Given the description of an element on the screen output the (x, y) to click on. 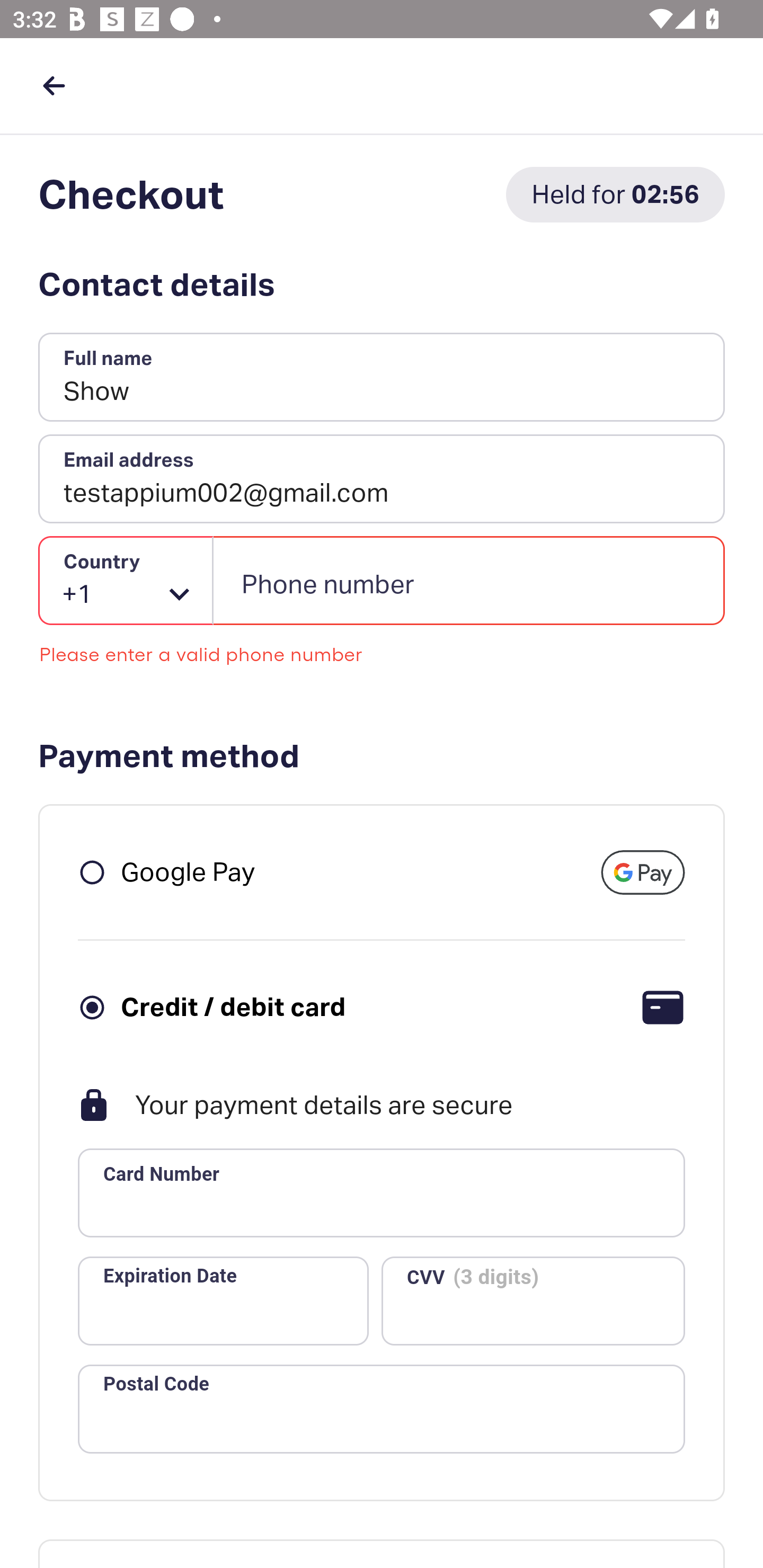
back button (53, 85)
Show (381, 377)
testappium002@gmail.com (381, 478)
  +1 (126, 580)
Google Pay (187, 871)
Credit / debit card (233, 1006)
Card Number (381, 1192)
Expiration Date (222, 1300)
CVV (3 digits) (533, 1300)
Postal Code (381, 1408)
